Given the description of an element on the screen output the (x, y) to click on. 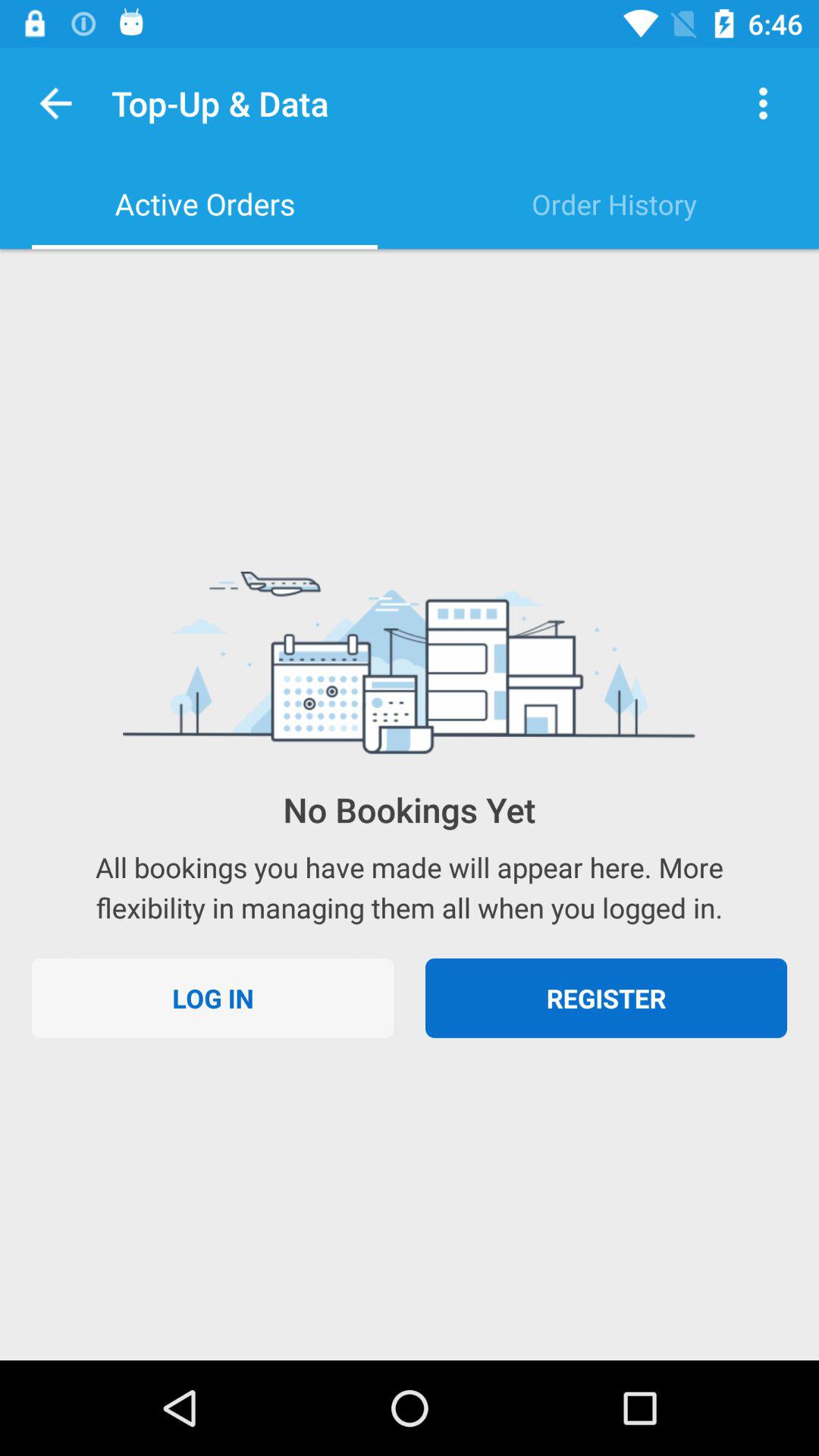
turn on register item (606, 997)
